Given the description of an element on the screen output the (x, y) to click on. 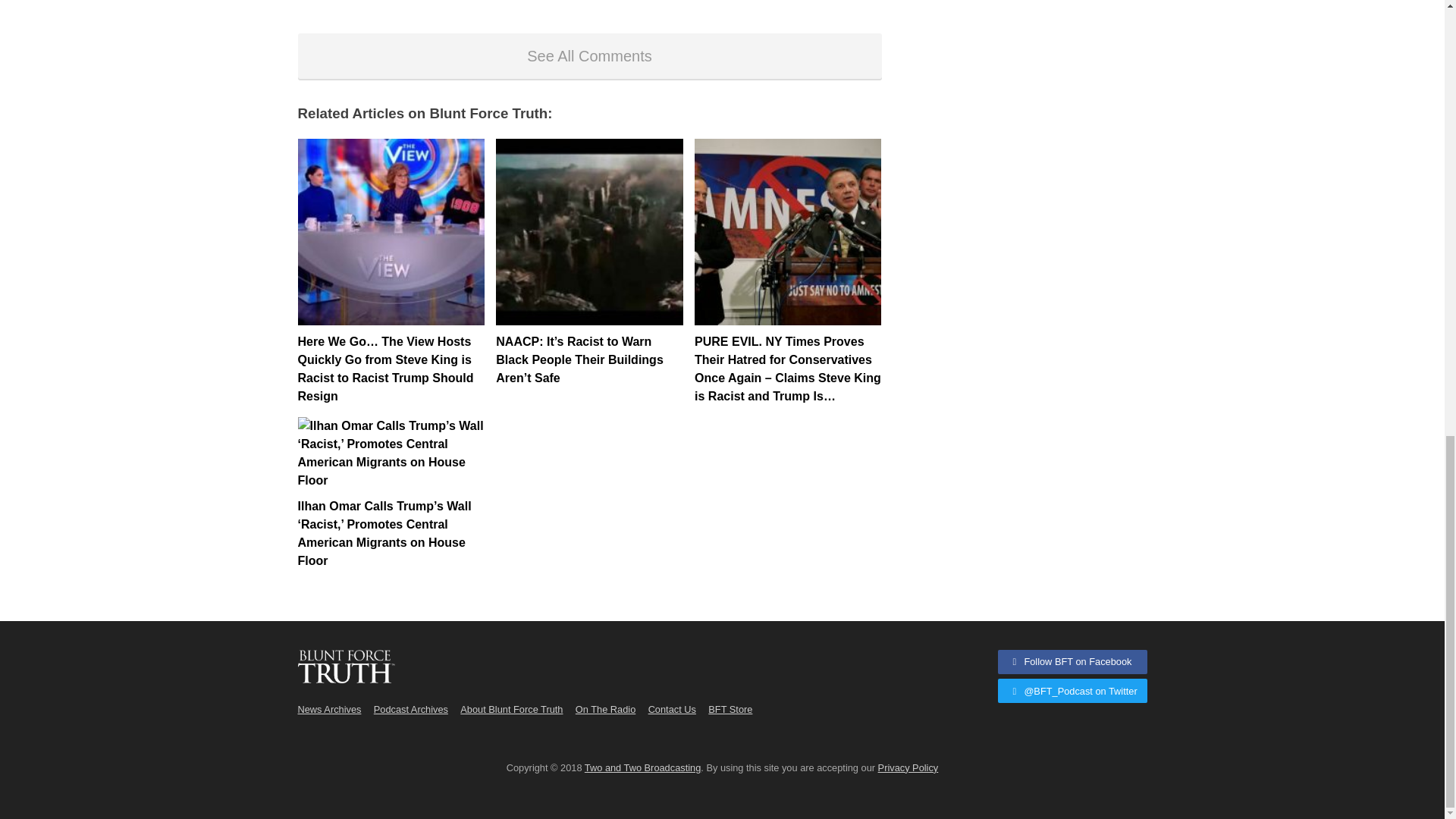
About Blunt Force Truth (511, 708)
Podcast Archives (411, 708)
Contact Us (671, 708)
BFT Store (729, 708)
Privacy Policy (908, 767)
Two and Two Broadcasting (642, 767)
See All Comments (588, 55)
News Archives (329, 708)
Follow BFT on Facebook (1072, 662)
On The Radio (604, 708)
